Given the description of an element on the screen output the (x, y) to click on. 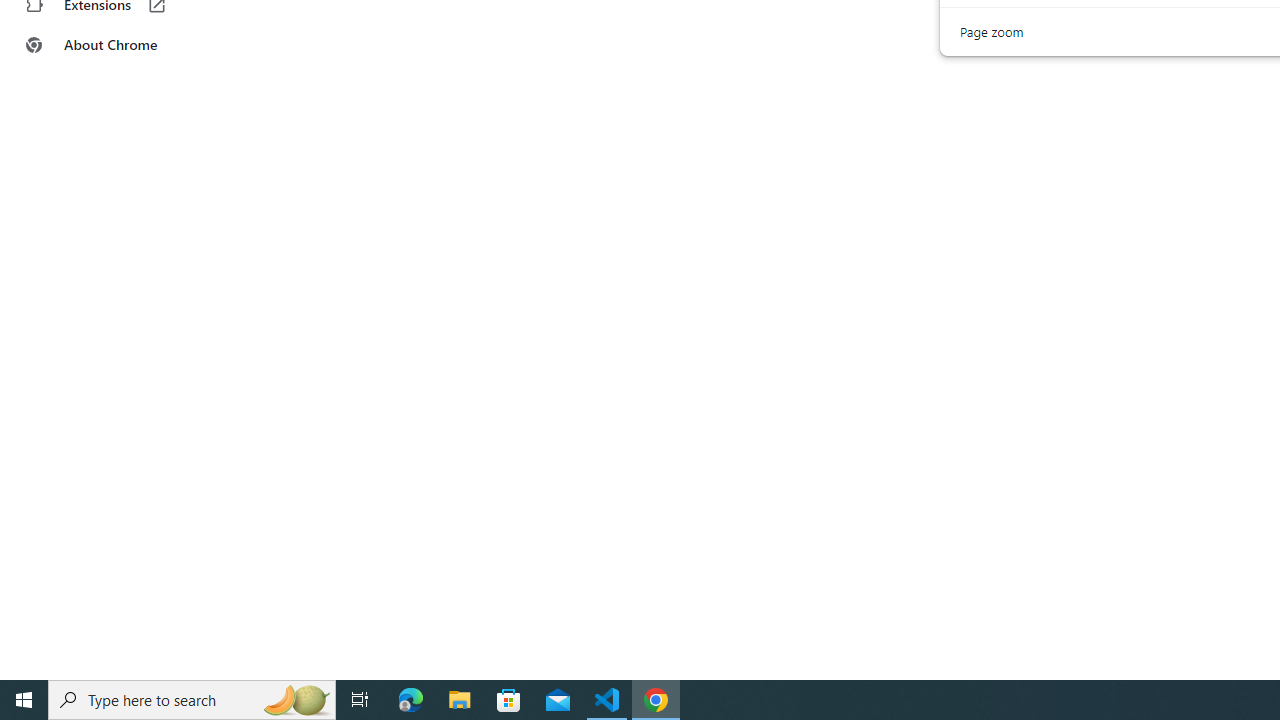
About Chrome (124, 44)
